Given the description of an element on the screen output the (x, y) to click on. 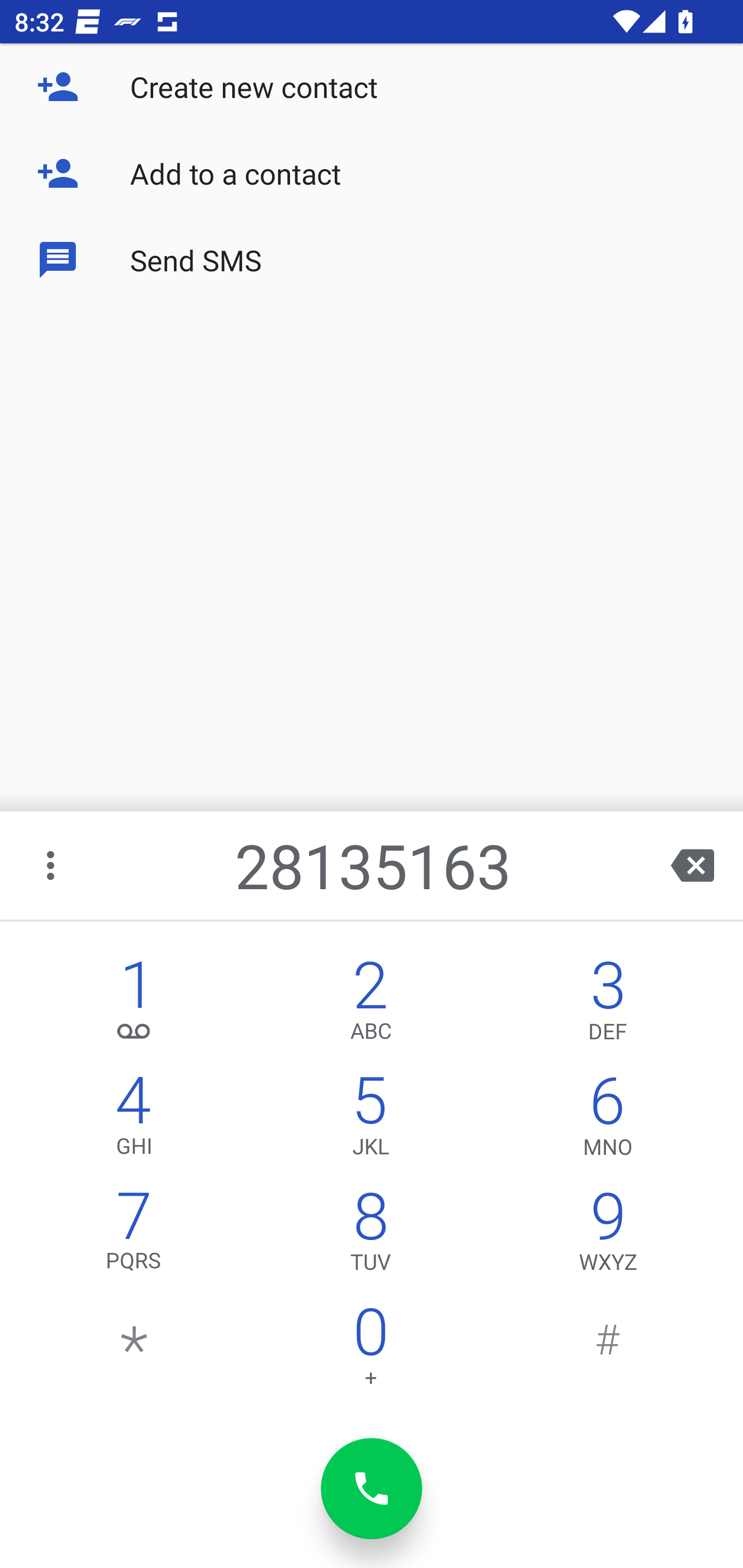
Create new contact (371, 86)
Add to a contact (371, 173)
Send SMS (371, 259)
28135163 (372, 865)
backspace (692, 865)
More options (52, 865)
1, 1 (133, 1005)
2,ABC 2 ABC (370, 1005)
3,DEF 3 DEF (607, 1005)
4,GHI 4 GHI (133, 1120)
5,JKL 5 JKL (370, 1120)
6,MNO 6 MNO (607, 1120)
7,PQRS 7 PQRS (133, 1235)
8,TUV 8 TUV (370, 1235)
9,WXYZ 9 WXYZ (607, 1235)
* (133, 1351)
0 0 + (370, 1351)
# (607, 1351)
dial (371, 1488)
